Given the description of an element on the screen output the (x, y) to click on. 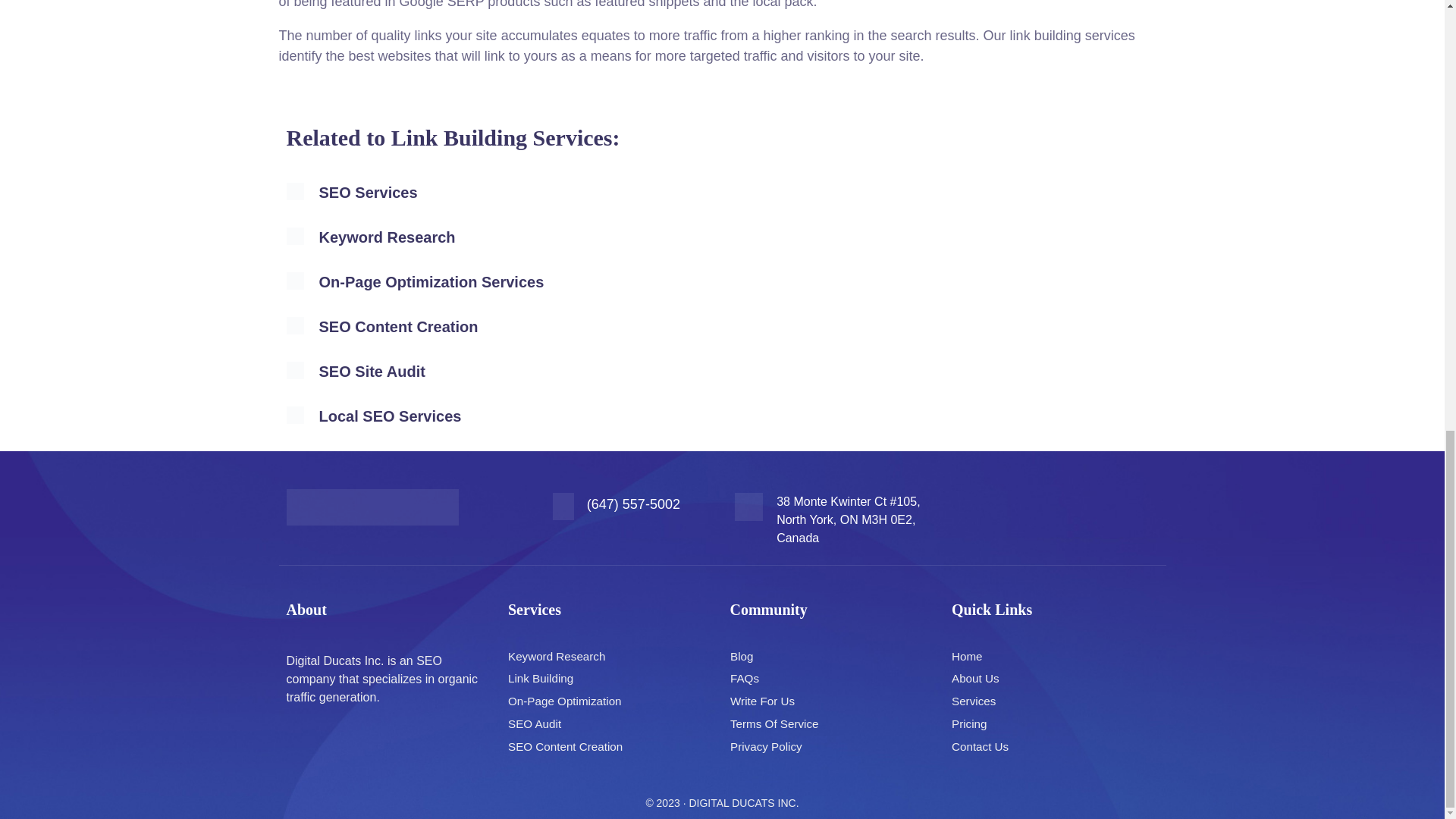
DigitalDucats (372, 506)
blue-chek-icon (295, 325)
SEO Services (367, 192)
SEO Site Audit (371, 371)
Keyword Research (386, 237)
SEO Content Creation (397, 326)
On-Page Optimization Services (430, 281)
